Given the description of an element on the screen output the (x, y) to click on. 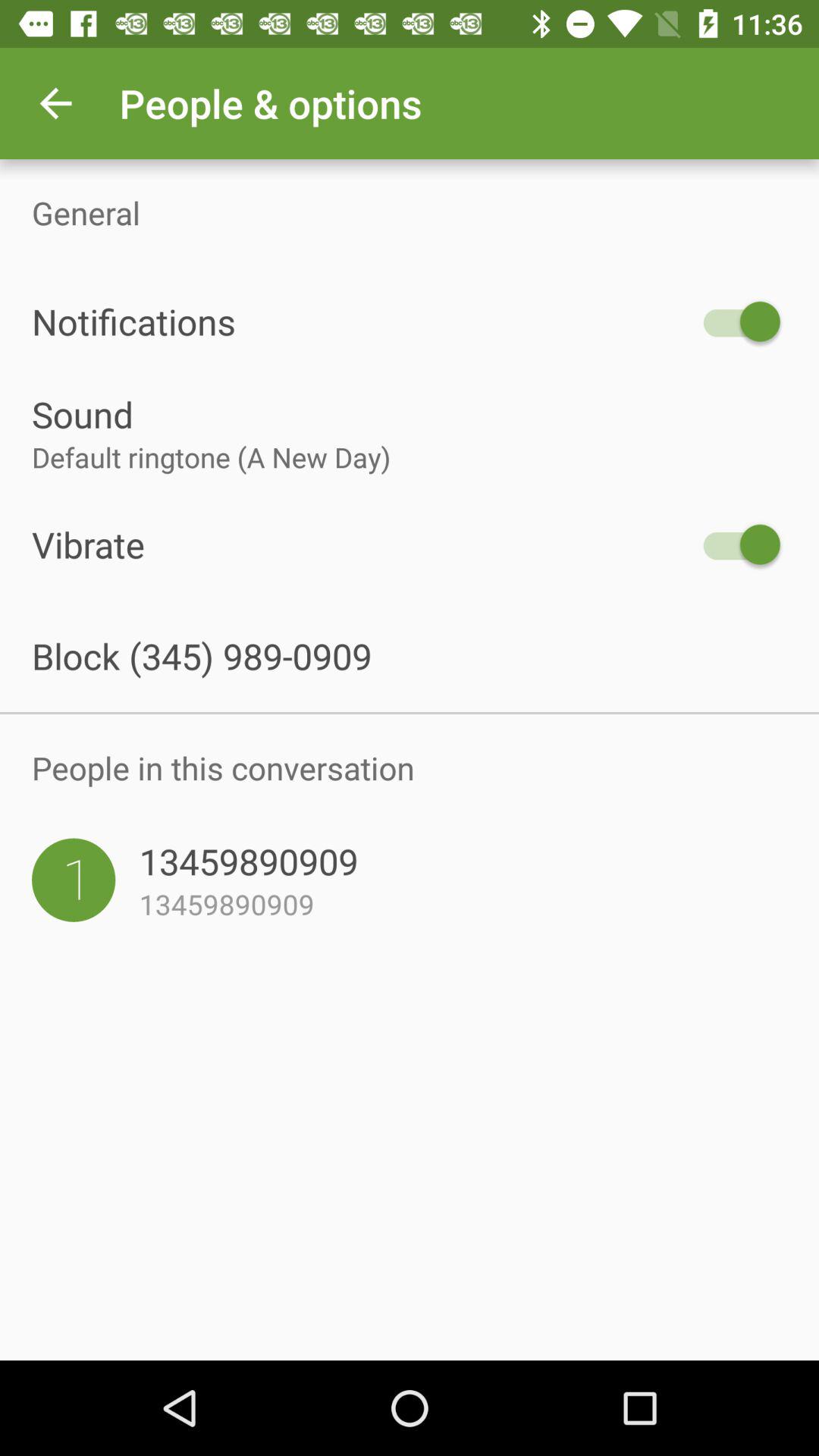
turn on the icon above people in this item (409, 713)
